Given the description of an element on the screen output the (x, y) to click on. 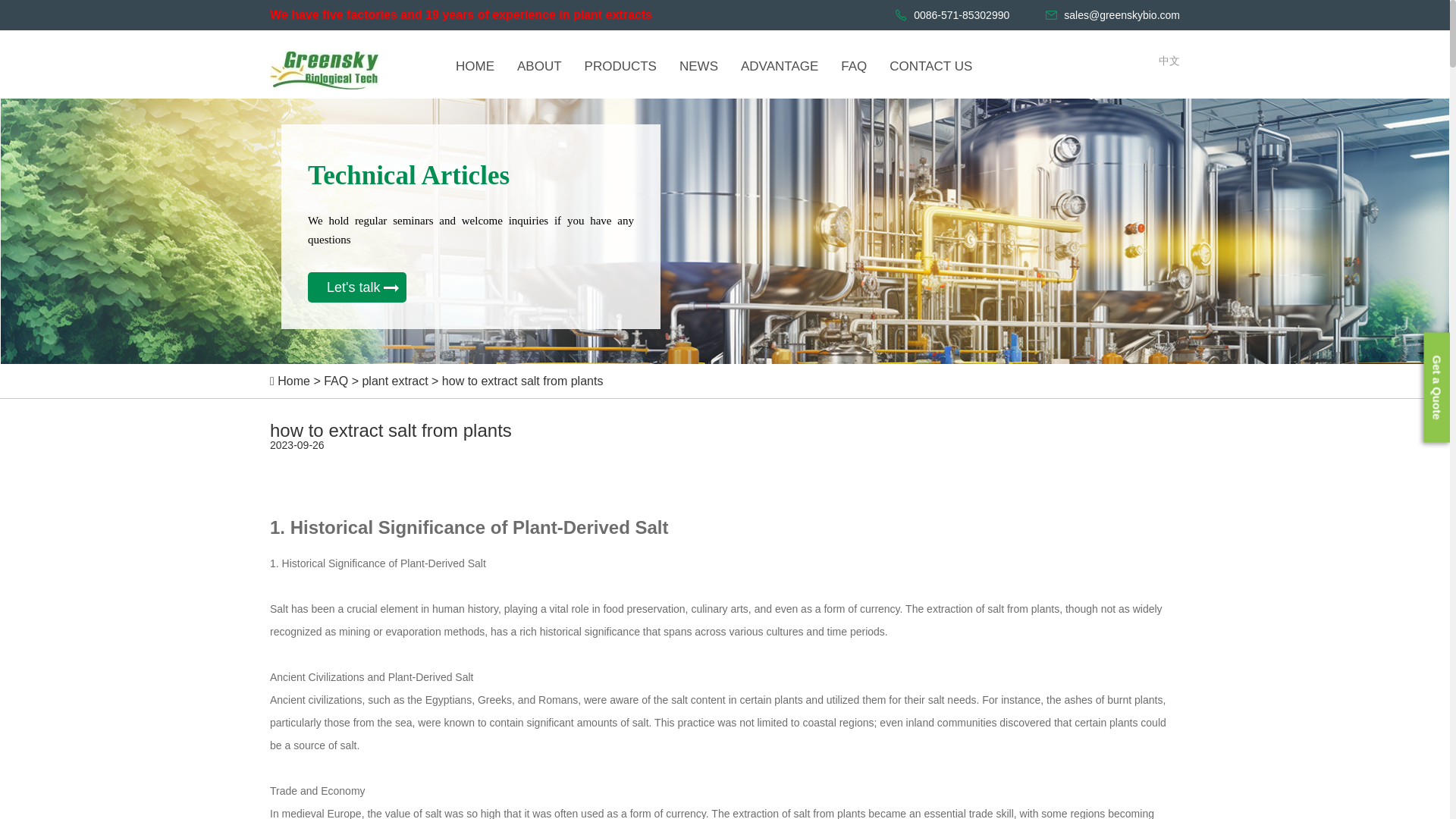
Products (620, 66)
Contact US (930, 66)
About (539, 66)
Hangzhou greensky,Manufacturer of botanical extract (474, 66)
advantage (779, 66)
News (698, 66)
ADVANTAGE (779, 66)
NEWS (698, 66)
HOME (474, 66)
PRODUCTS (620, 66)
ABOUT (539, 66)
